Given the description of an element on the screen output the (x, y) to click on. 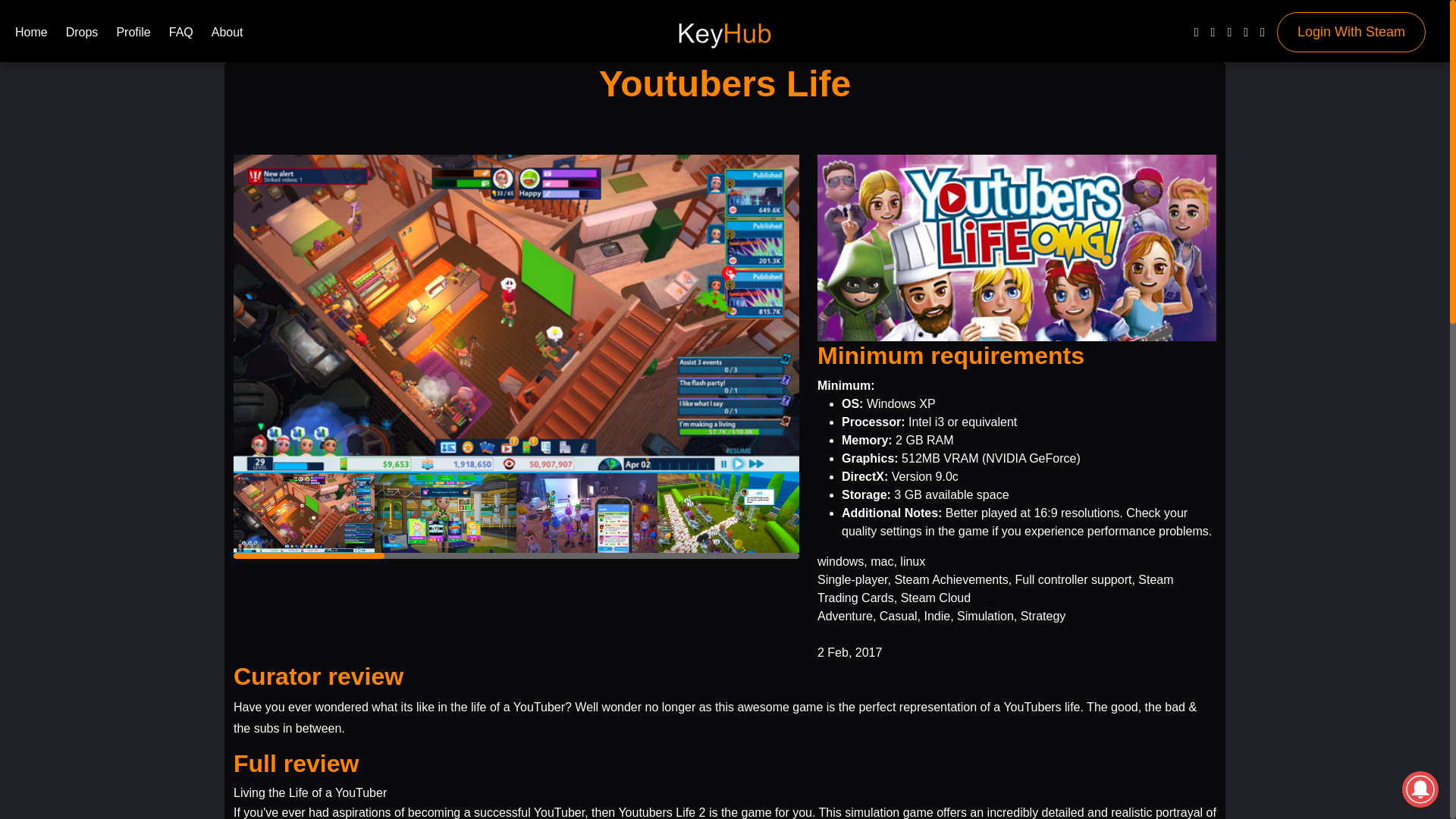
Home (31, 35)
FAQ (180, 35)
Profile (132, 35)
Drops (82, 35)
Login With Steam (1350, 32)
About (227, 35)
